Given the description of an element on the screen output the (x, y) to click on. 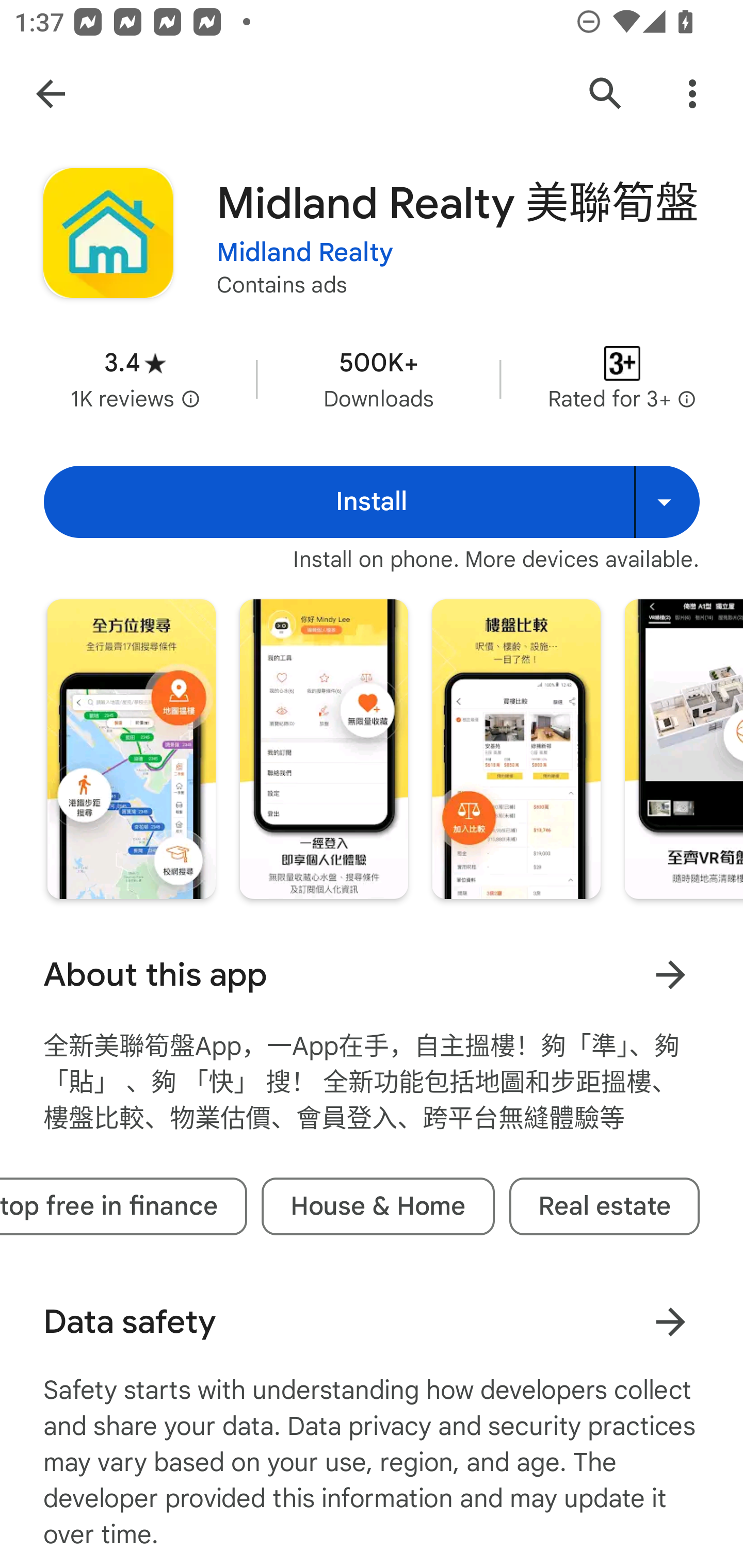
Navigate up (50, 93)
Search Google Play (605, 93)
More Options (692, 93)
Midland Realty (304, 253)
Average rating 3.4 stars in 1 thousand reviews (135, 379)
Content rating Rated for 3+ (622, 379)
Install Install Install on more devices (371, 501)
Install on more devices (667, 501)
Screenshot "1" of "7" (130, 748)
Screenshot "2" of "7" (323, 748)
Screenshot "3" of "7" (515, 748)
About this app Learn more About this app (371, 974)
Learn more About this app (670, 974)
#8 top free in finance tag (123, 1206)
House & Home tag (377, 1206)
Real estate tag (603, 1206)
Data safety Learn more about data safety (371, 1321)
Learn more about data safety (670, 1321)
